Given the description of an element on the screen output the (x, y) to click on. 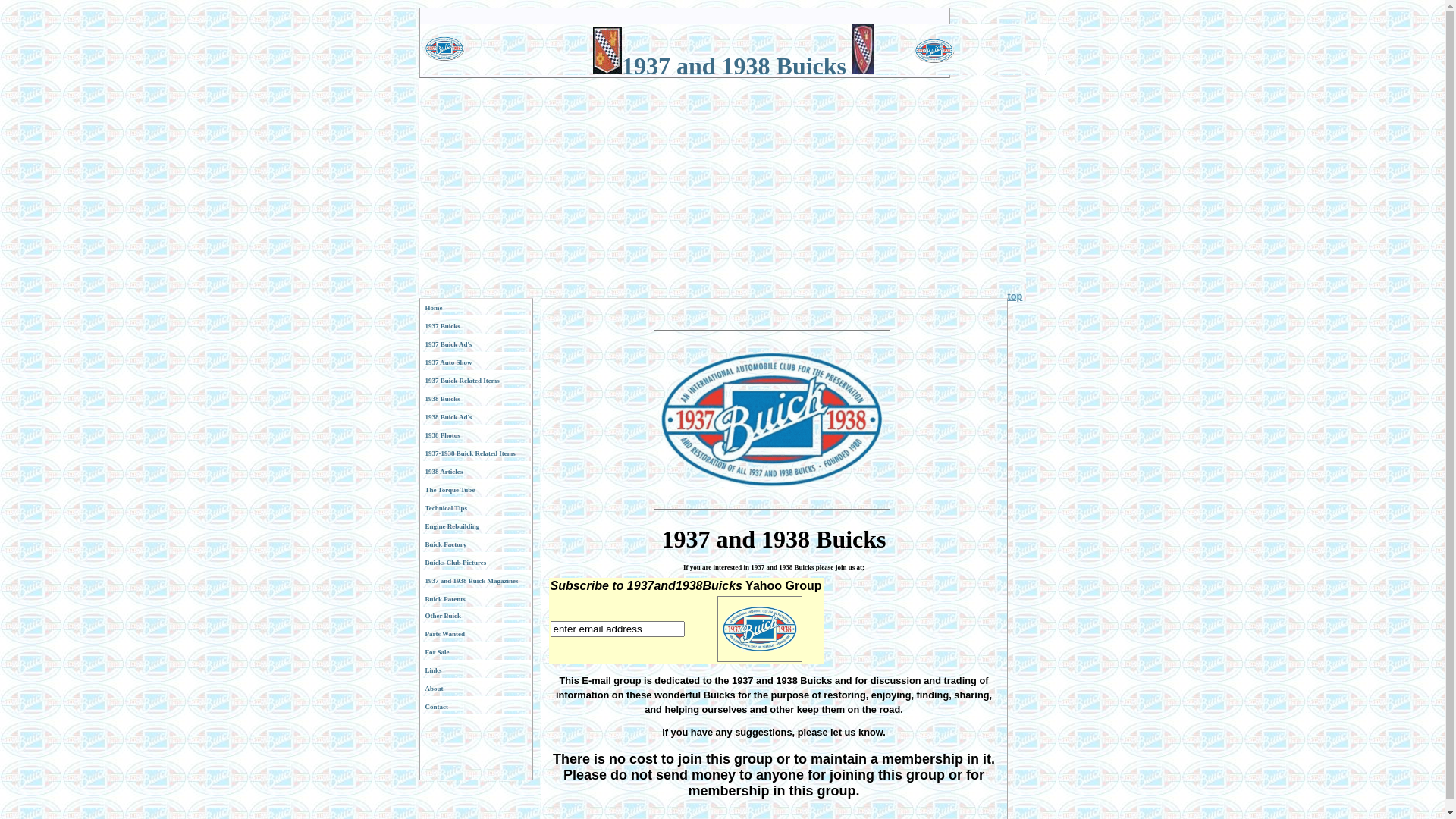
Parts Wanted Element type: text (475, 633)
Links Element type: text (475, 670)
Contact Element type: text (475, 706)
1937 Buick Ad's Element type: text (475, 343)
Buick Patents Element type: text (475, 598)
Buick Factory Element type: text (475, 544)
Home Element type: text (475, 307)
For Sale Element type: text (475, 651)
Buicks Club Pictures Element type: text (475, 562)
Technical Tips Element type: text (475, 507)
1937 Buick Related Items Element type: text (475, 380)
top Element type: text (1014, 295)
The Torque Tube Element type: text (475, 489)
1937 and 1938 Buick Magazines Element type: text (475, 580)
1938 Buicks Element type: text (475, 398)
1937 Buicks Element type: text (475, 325)
1938 Buick Ad's Element type: text (475, 416)
1937 Auto Show Element type: text (475, 362)
Other Buick Element type: text (475, 615)
About Element type: text (475, 688)
1938 Photos Element type: text (475, 434)
Advertisement Element type: hover (721, 184)
1938 Articles Element type: text (475, 471)
1937-1938 Buick Related Items Element type: text (475, 453)
Engine Rebuilding Element type: text (475, 525)
